Given the description of an element on the screen output the (x, y) to click on. 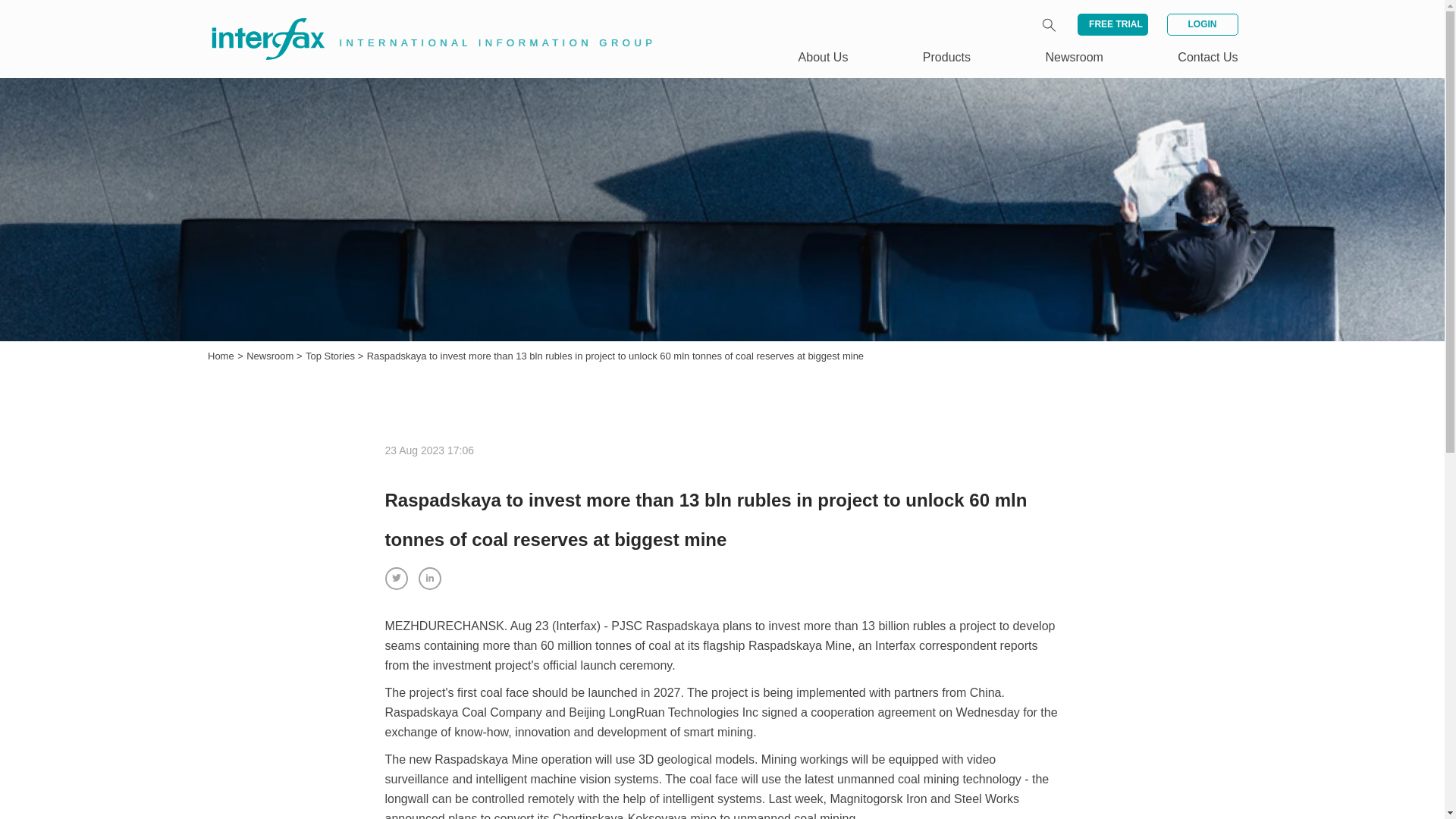
Home (221, 355)
Top Stories (331, 355)
Newsroom (1073, 56)
LOGIN (1201, 24)
About Us (822, 56)
FREE TRIAL (1112, 24)
INTERNATIONAL INFORMATION GROUP (421, 20)
Contact Us (1207, 56)
Newsroom (271, 355)
Contact Us (1207, 56)
Products (947, 56)
Newsroom (271, 355)
